Given the description of an element on the screen output the (x, y) to click on. 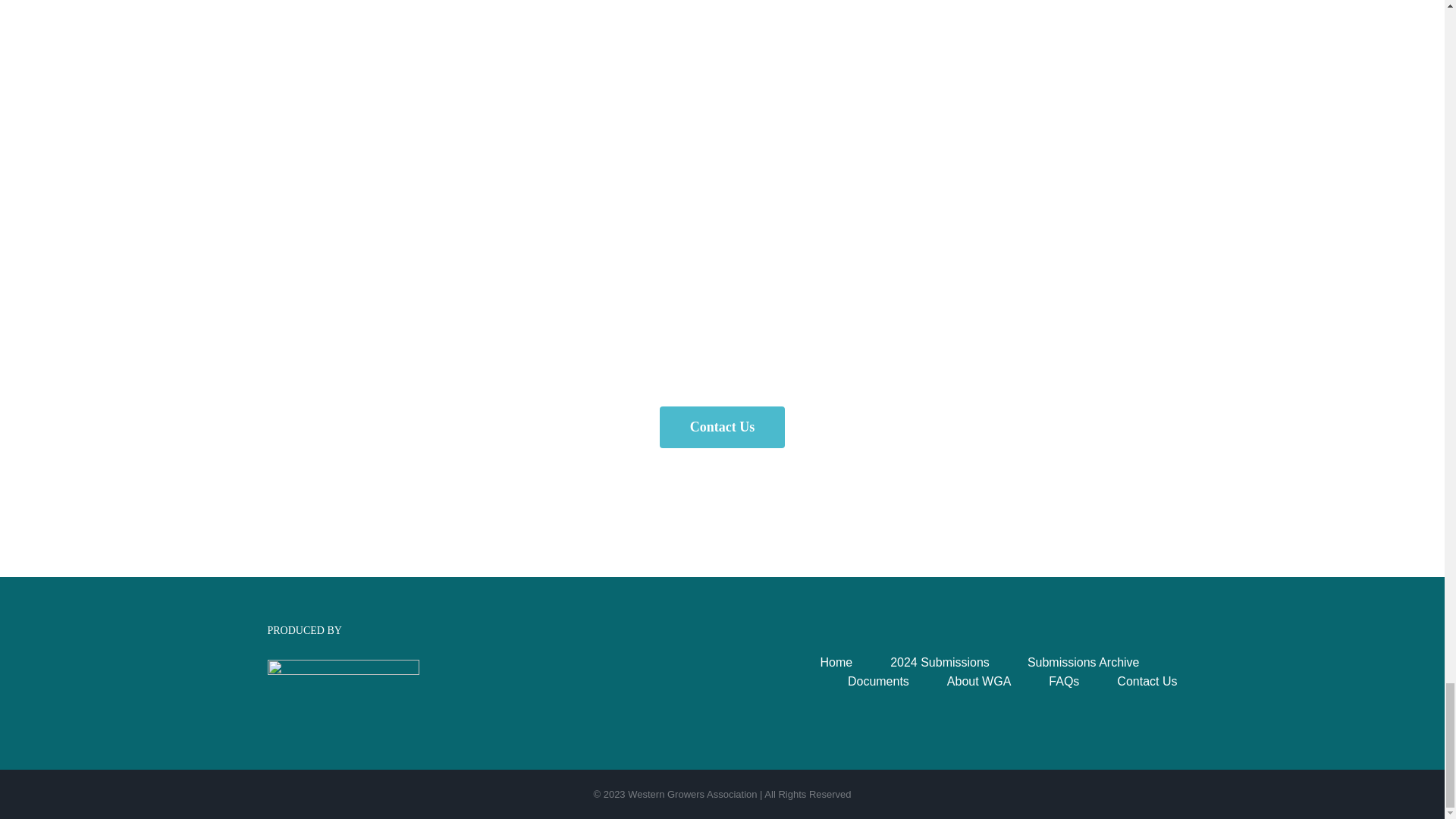
Home (854, 661)
Submissions Archive (1102, 661)
Contact Us (722, 426)
Documents (897, 681)
About WGA (997, 681)
Sponsored by (342, 690)
spinach (484, 94)
Contact Us (1146, 681)
2024 Submissions (958, 661)
FAQs (1082, 681)
